Given the description of an element on the screen output the (x, y) to click on. 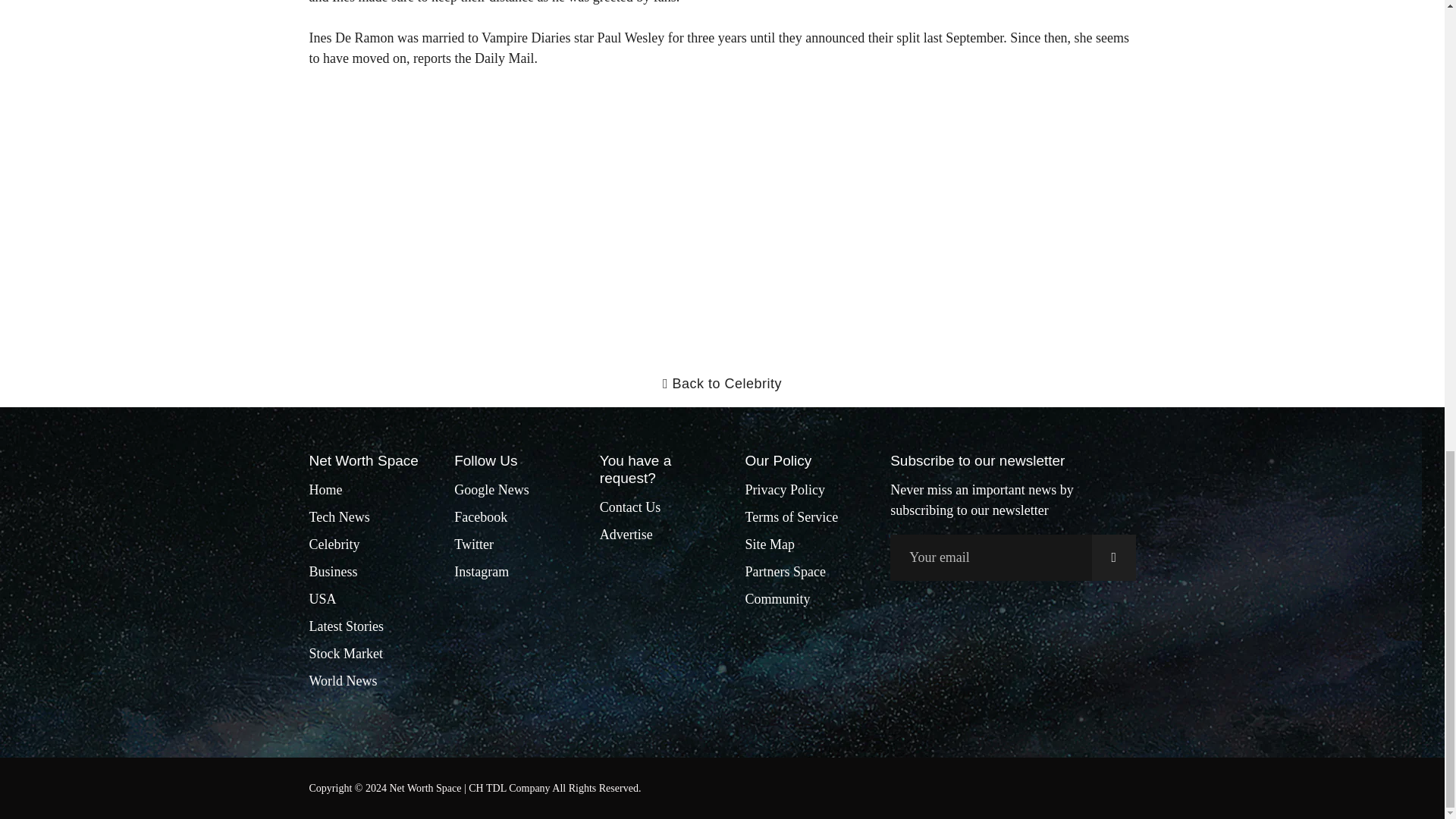
Facebook (480, 516)
Business (333, 571)
Stock Market (345, 653)
Celebrity (333, 544)
Latest Stories (346, 626)
Google News (491, 489)
Home (325, 489)
USA (322, 598)
World News (342, 680)
Tech News (338, 516)
